Given the description of an element on the screen output the (x, y) to click on. 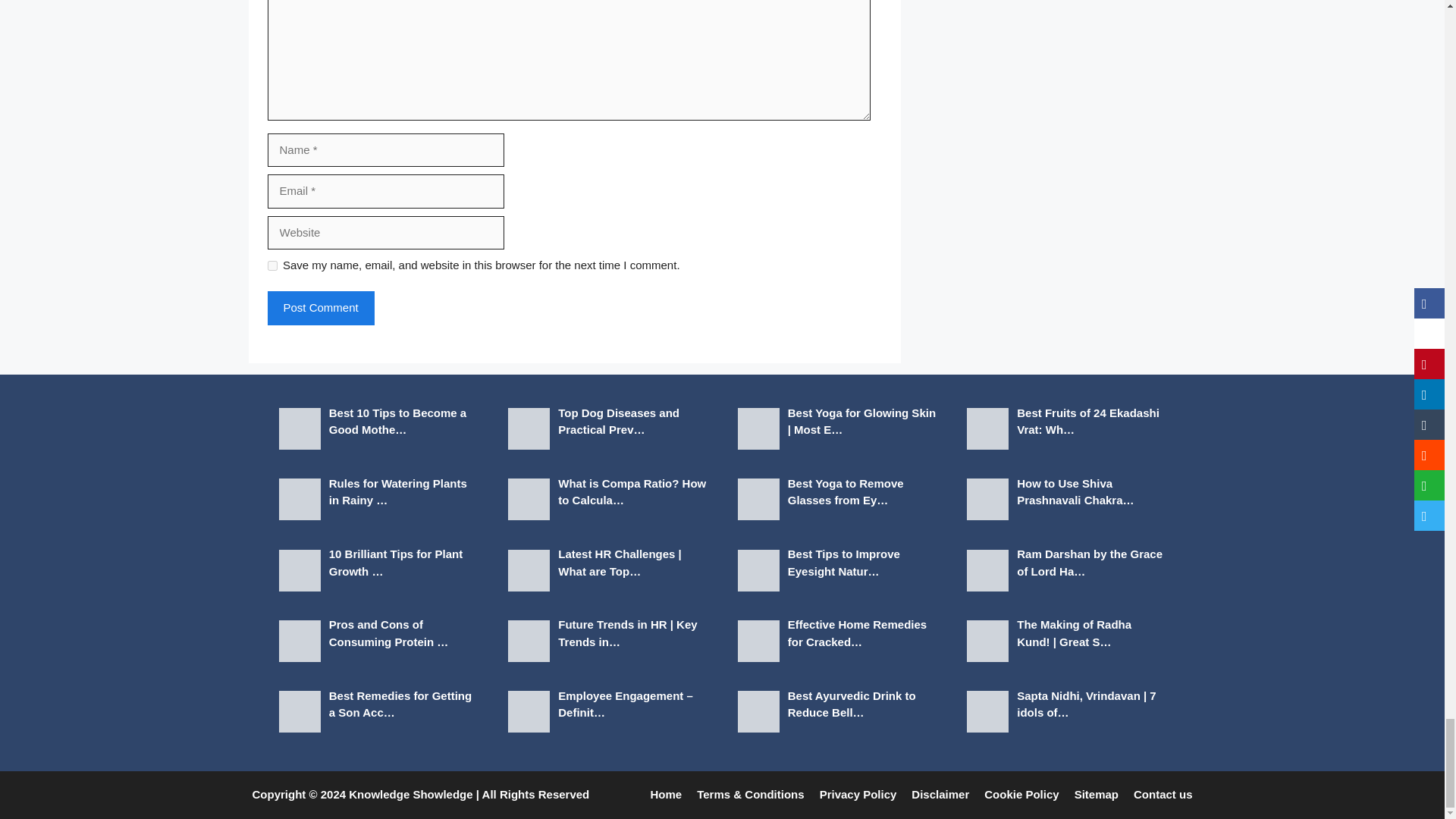
Post Comment (320, 308)
yes (271, 266)
